Given the description of an element on the screen output the (x, y) to click on. 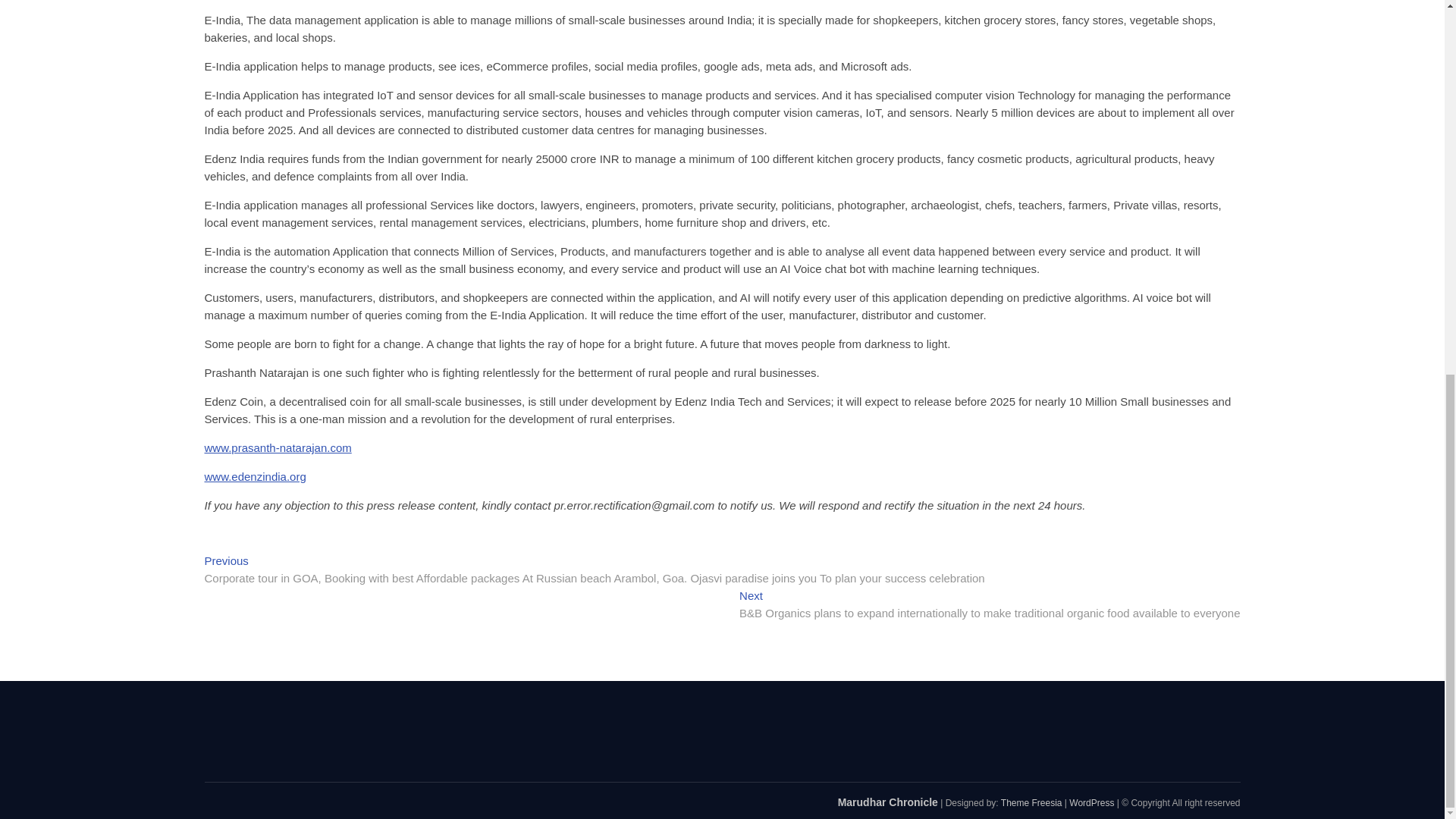
Marudhar Chronicle (887, 802)
Theme Freesia (1031, 802)
Theme Freesia (1031, 802)
www.edenzindia.org (255, 476)
www.prasanth-natarajan.com (278, 447)
Marudhar Chronicle (887, 802)
WordPress (1090, 802)
WordPress (1090, 802)
